Given the description of an element on the screen output the (x, y) to click on. 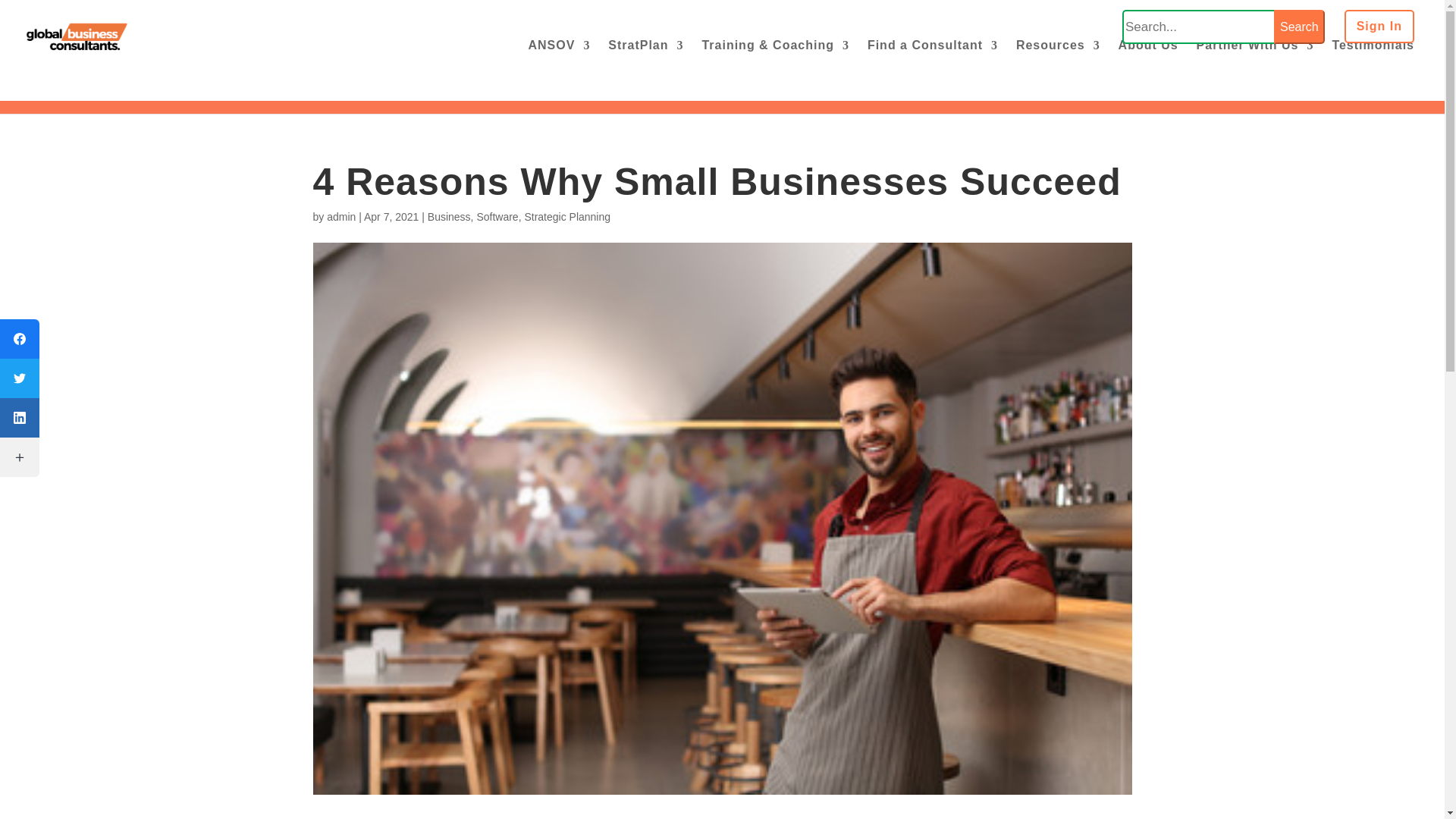
ANSOV (558, 58)
Search (1299, 26)
Strategic Planning (567, 216)
Find a Consultant (932, 58)
Partner With Us (1255, 58)
StratPlan (645, 58)
Sign In (1379, 33)
Posts by admin (340, 216)
Testimonials (1372, 58)
Software (497, 216)
